Given the description of an element on the screen output the (x, y) to click on. 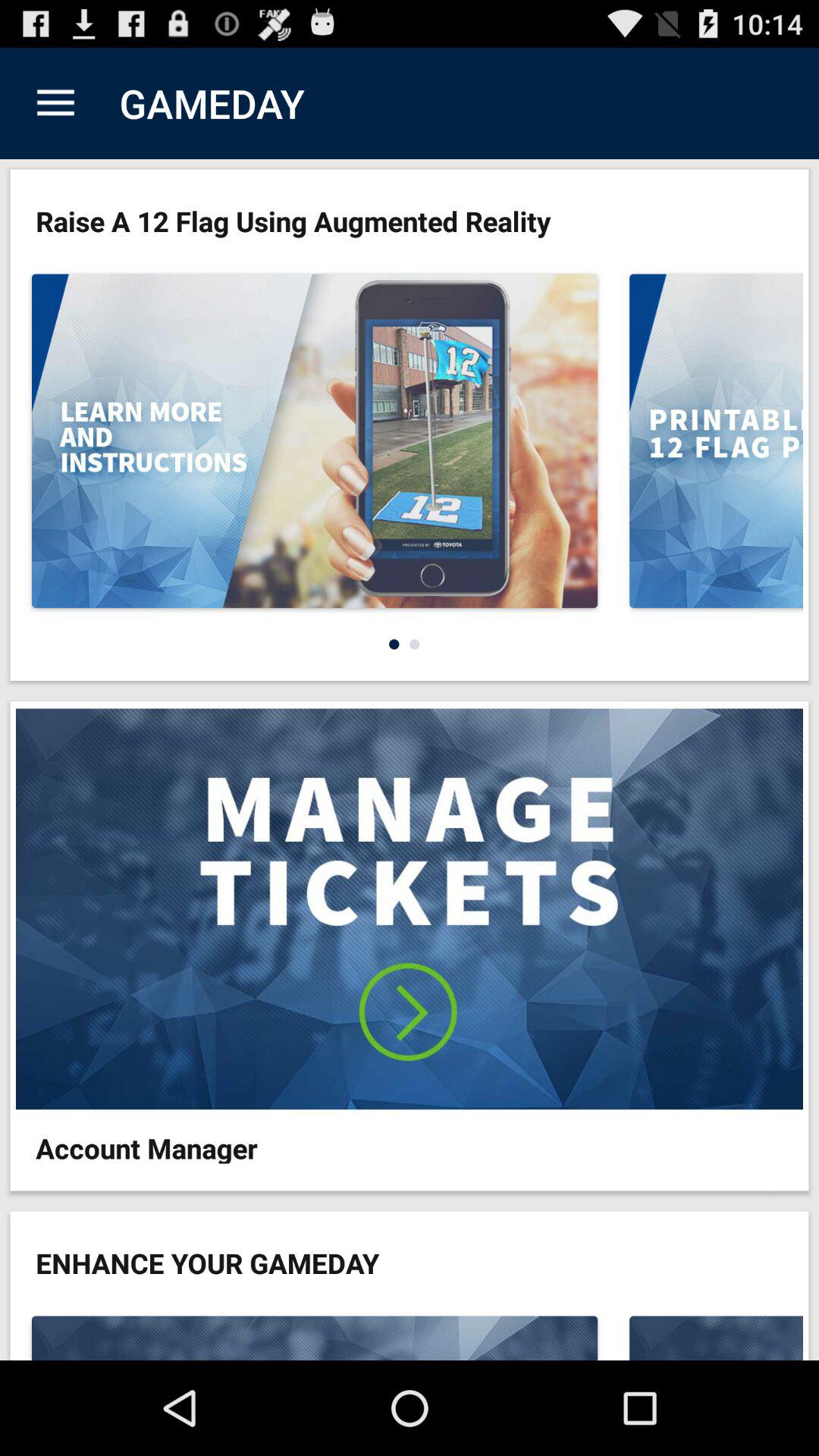
choose the item above raise a 12 item (55, 103)
